Given the description of an element on the screen output the (x, y) to click on. 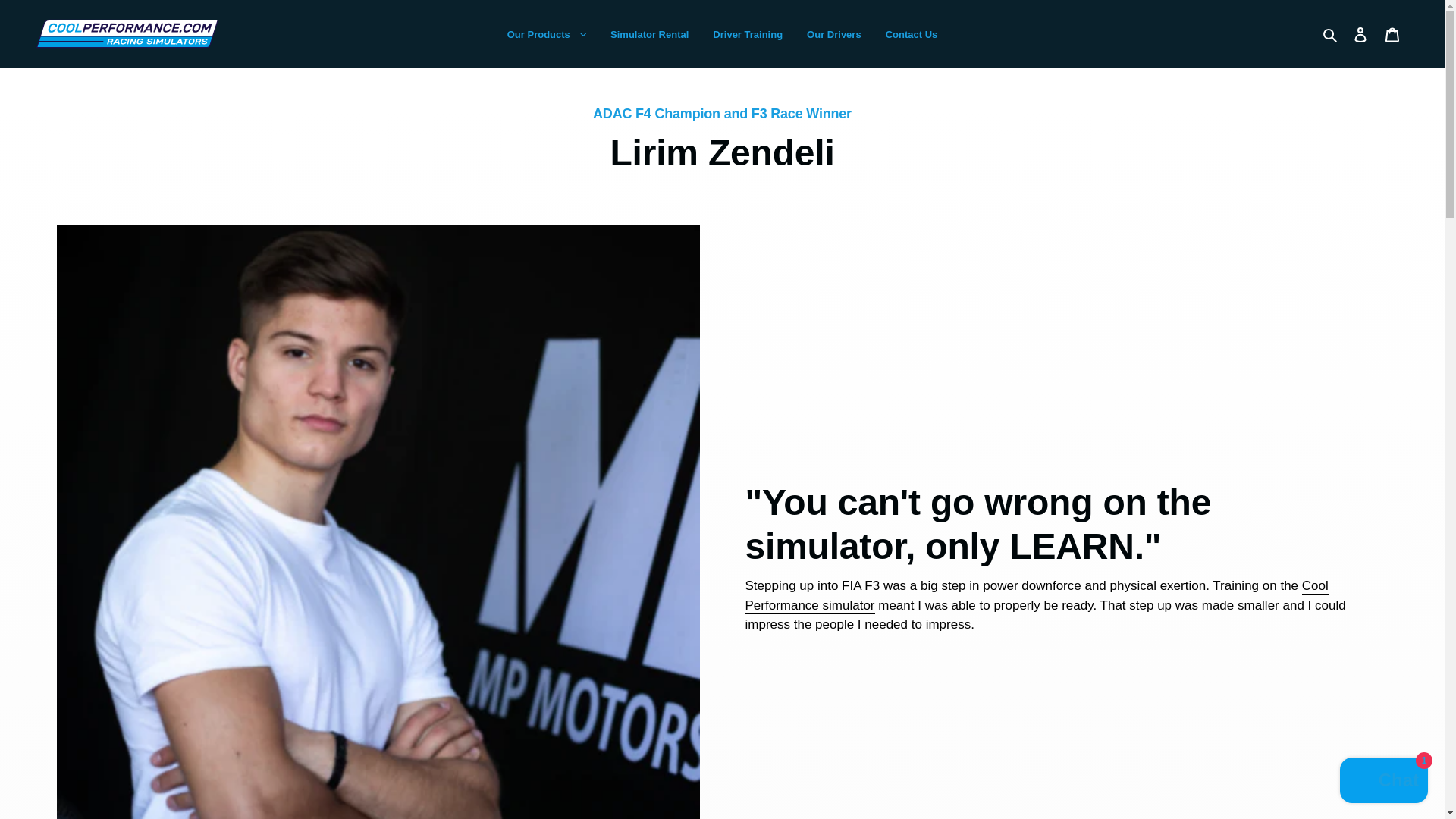
Contact Us (911, 33)
Search (1330, 34)
Cool Performance Simulators (1035, 596)
Simulator Rental (649, 33)
Our Drivers (833, 33)
Our Products (546, 33)
Log in (1359, 33)
Driver Training (747, 33)
Shopify online store chat (1383, 781)
Cart (1391, 33)
Our Products (546, 34)
